Given the description of an element on the screen output the (x, y) to click on. 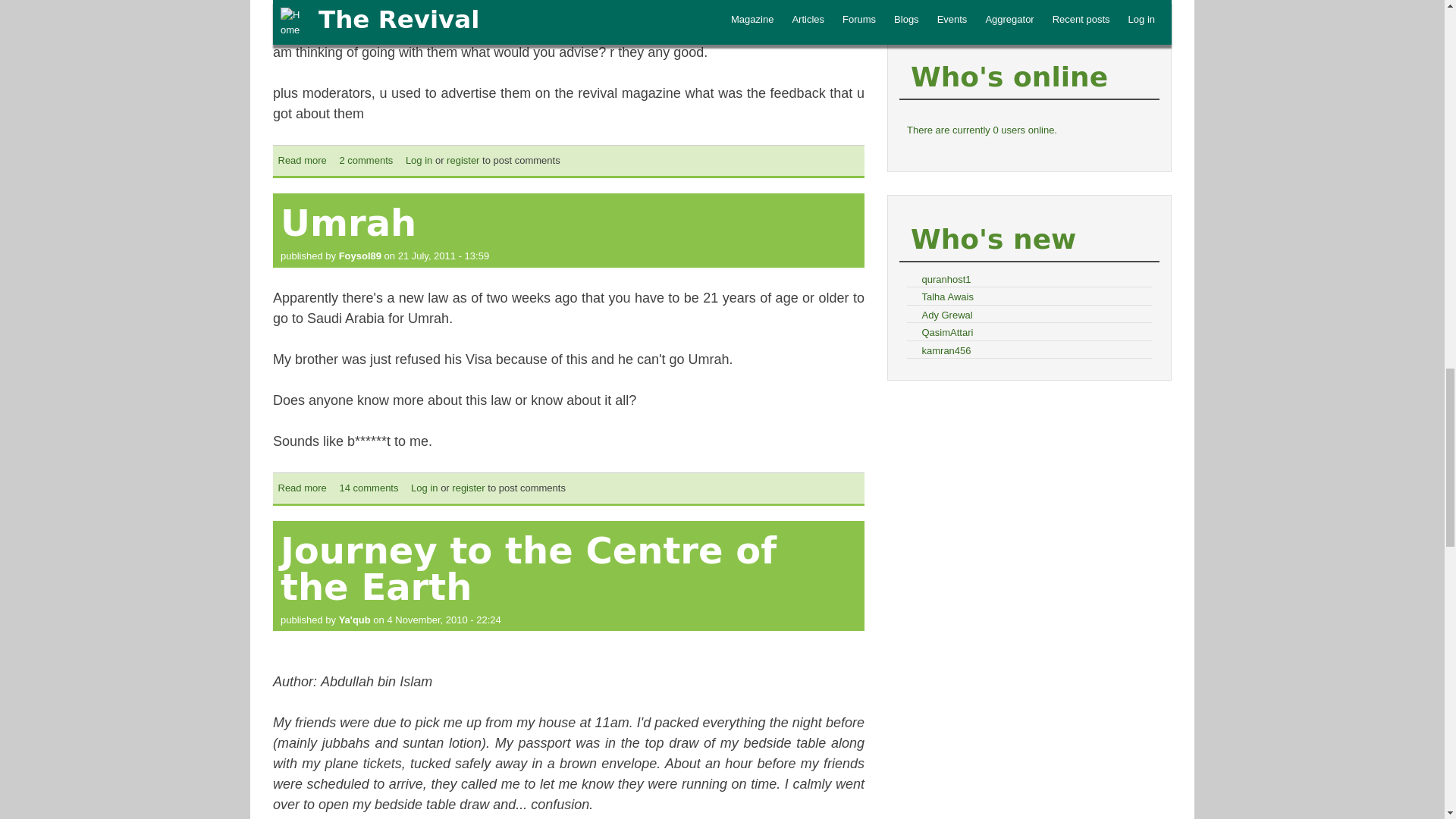
2 comments (366, 160)
register (462, 160)
Log in (419, 160)
